Given the description of an element on the screen output the (x, y) to click on. 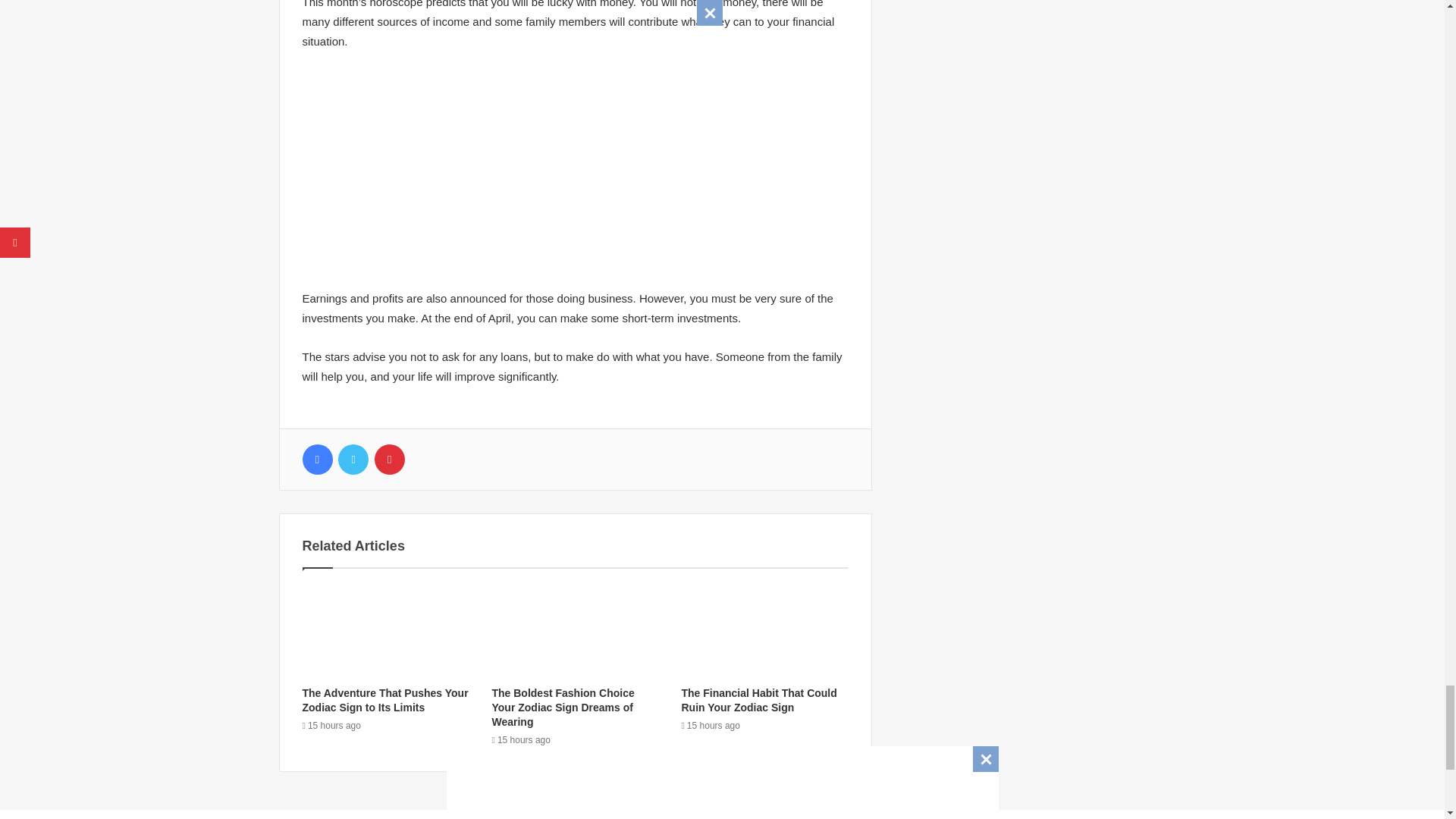
Facebook (316, 459)
Twitter (352, 459)
Facebook (316, 459)
The Adventure That Pushes Your Zodiac Sign to Its Limits (384, 700)
Pinterest (389, 459)
The Financial Habit That Could Ruin Your Zodiac Sign (758, 700)
